Given the description of an element on the screen output the (x, y) to click on. 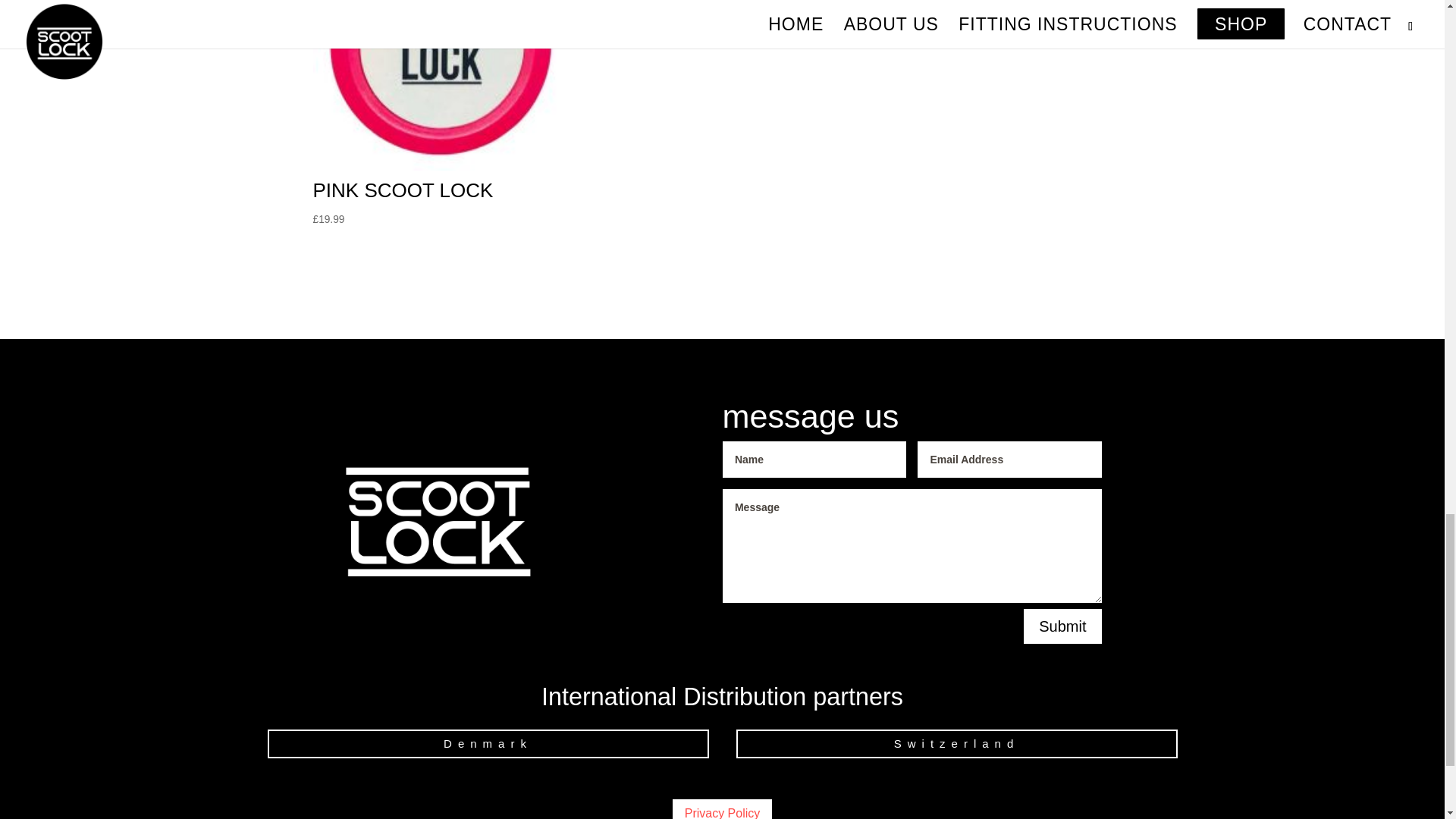
Switzerland (955, 744)
scootlogo-trans2 (437, 522)
Denmark (486, 744)
Privacy Policy (722, 809)
Submit (1061, 626)
